Given the description of an element on the screen output the (x, y) to click on. 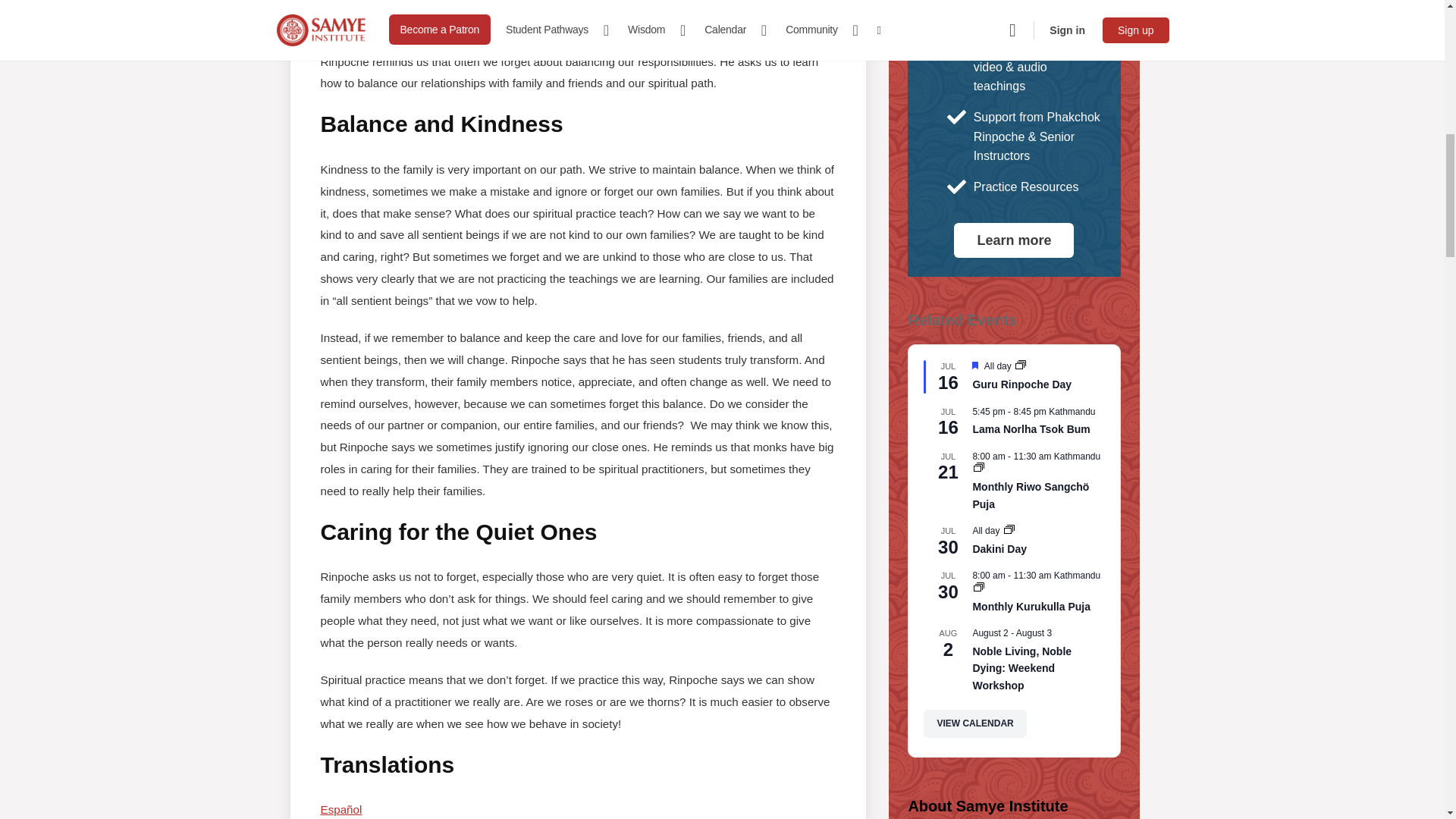
Event Series (979, 466)
Lama Norlha Tsok Bum (1030, 429)
View more events. (974, 723)
Event Series (1020, 366)
Event Series (1020, 364)
Event Series (979, 586)
Event Series (979, 588)
Event Series (1009, 530)
Event Series (1009, 528)
Dakini Day (999, 549)
Guru Rinpoche Day (1021, 384)
Noble Living, Noble Dying: Weekend Workshop (1021, 668)
Monthly Kurukulla Puja (1031, 606)
Event Series (979, 468)
